Given the description of an element on the screen output the (x, y) to click on. 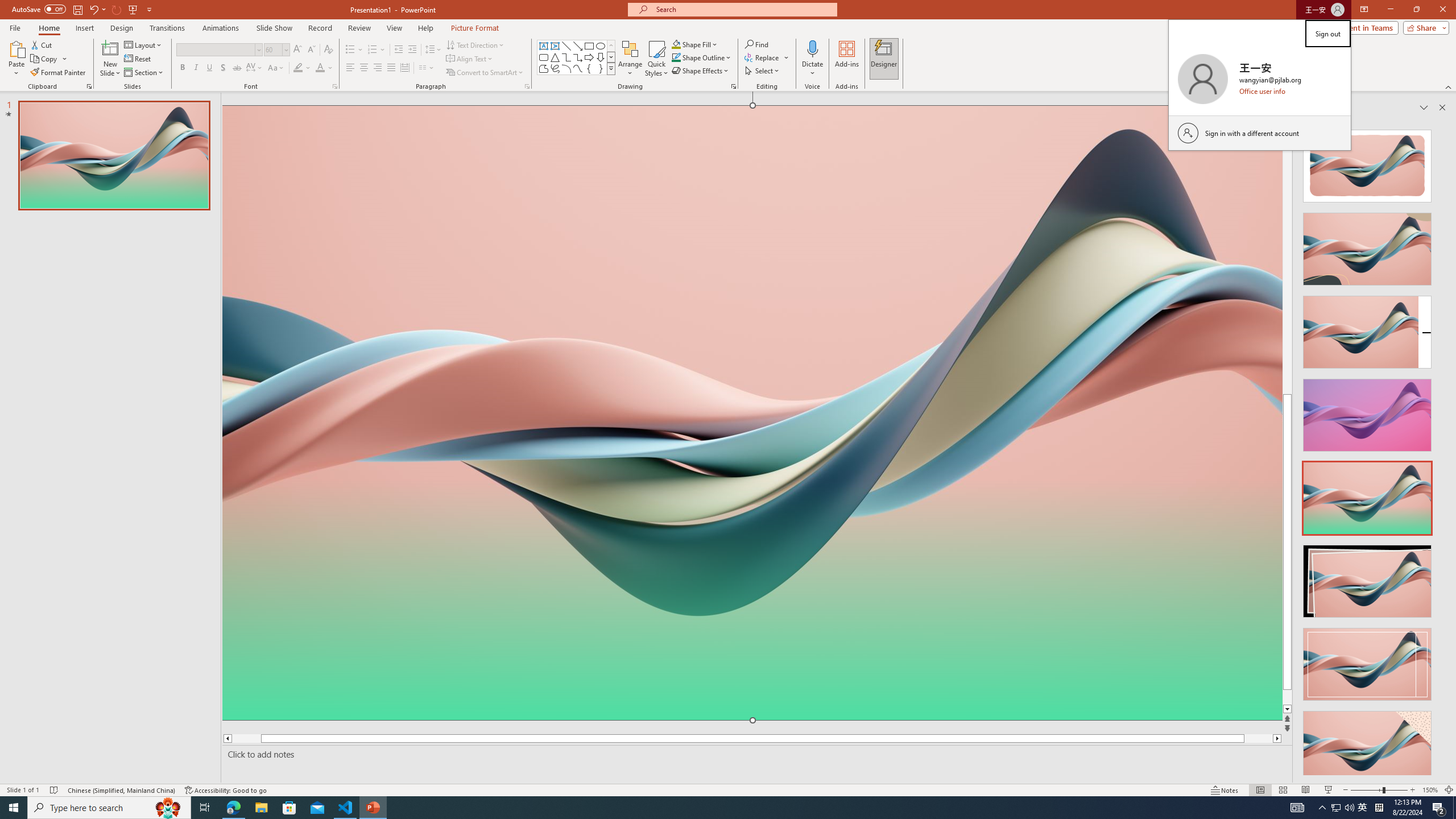
Decorative Locked (752, 579)
